Given the description of an element on the screen output the (x, y) to click on. 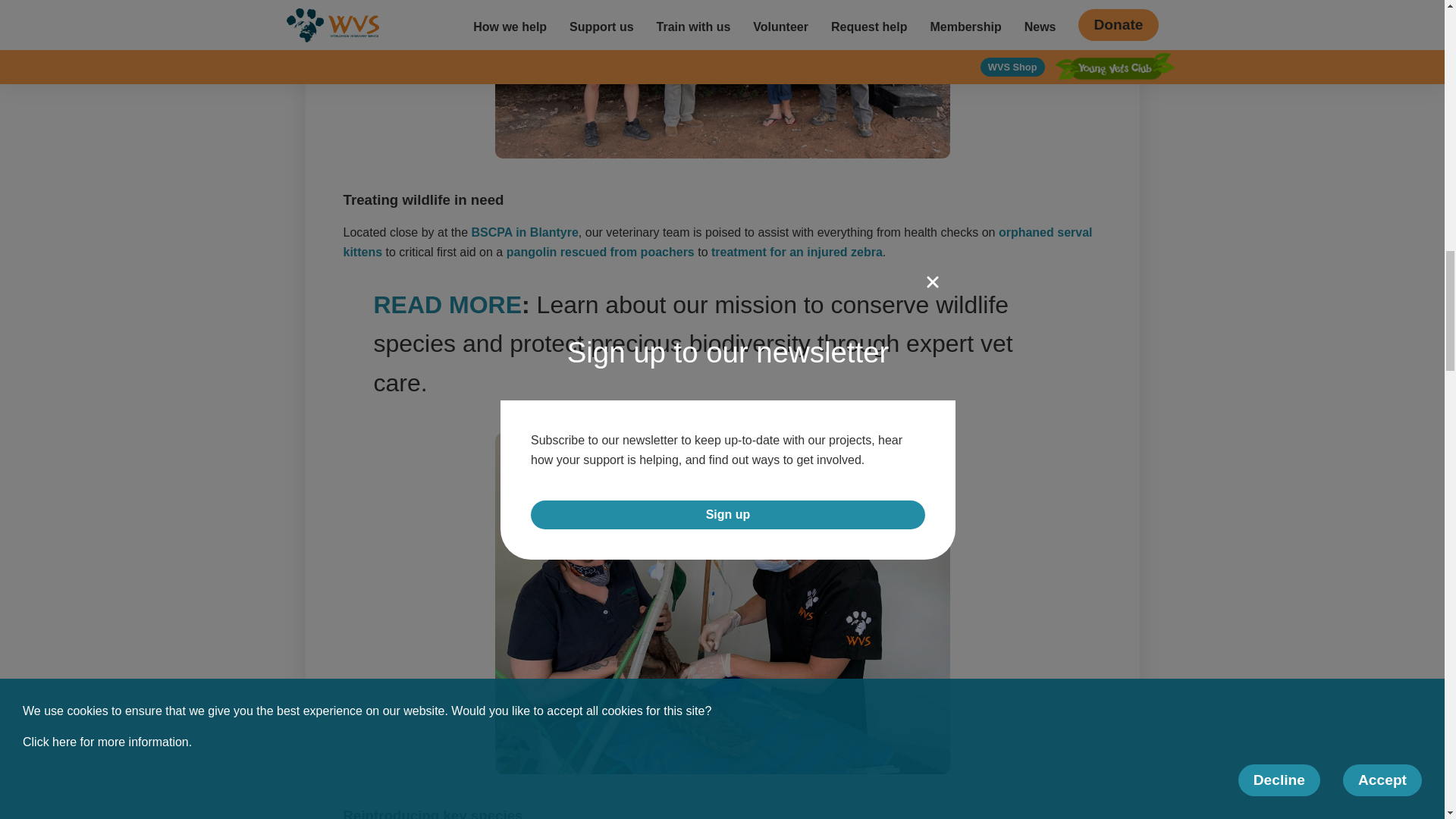
pangolin rescued from poachers (600, 251)
orphaned serval kittens (717, 242)
READ MORE (446, 304)
treatment for an injured zebra (796, 251)
BSCPA in Blantyre (524, 232)
